Given the description of an element on the screen output the (x, y) to click on. 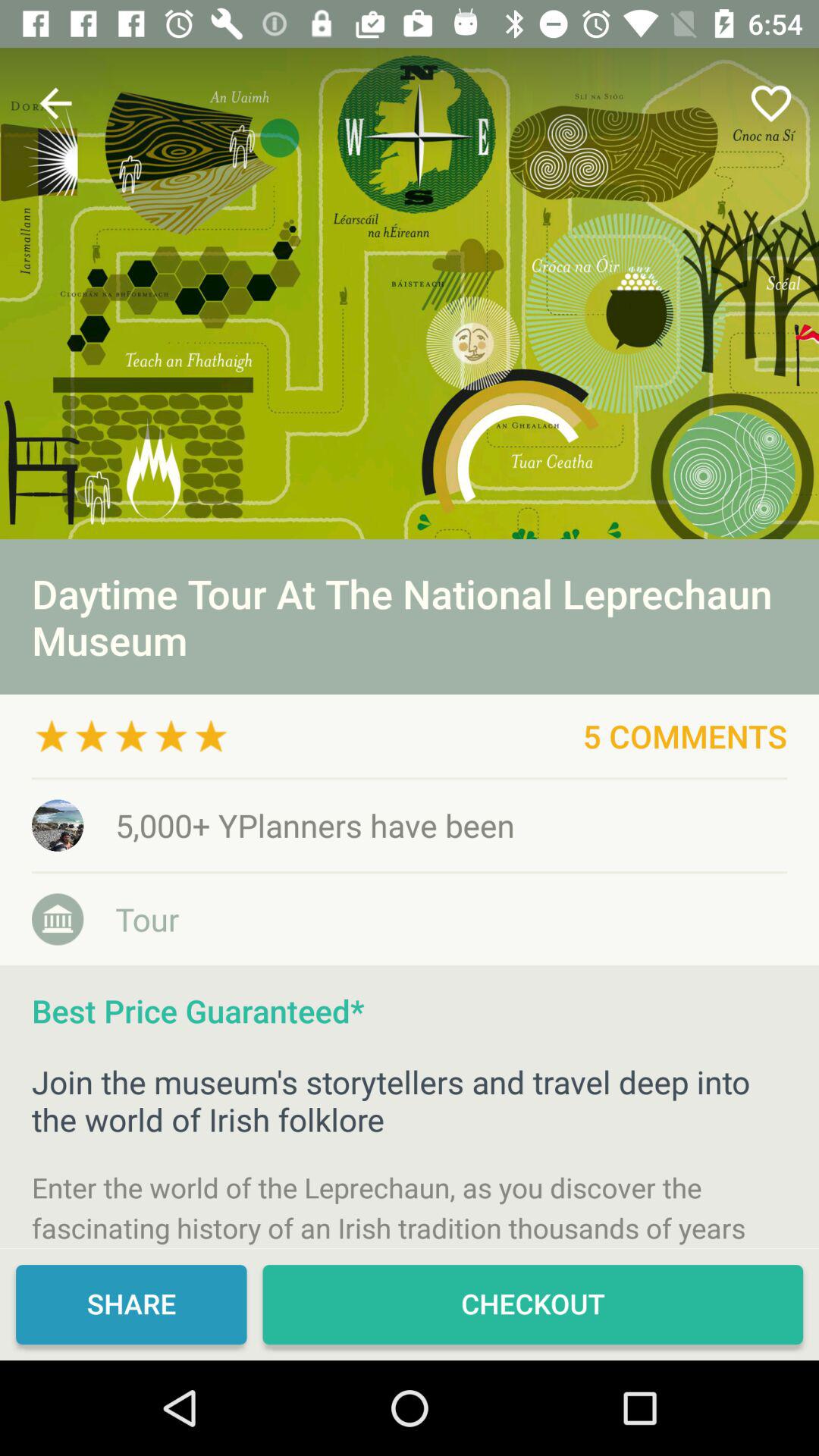
choose the icon at the top left corner (55, 103)
